Given the description of an element on the screen output the (x, y) to click on. 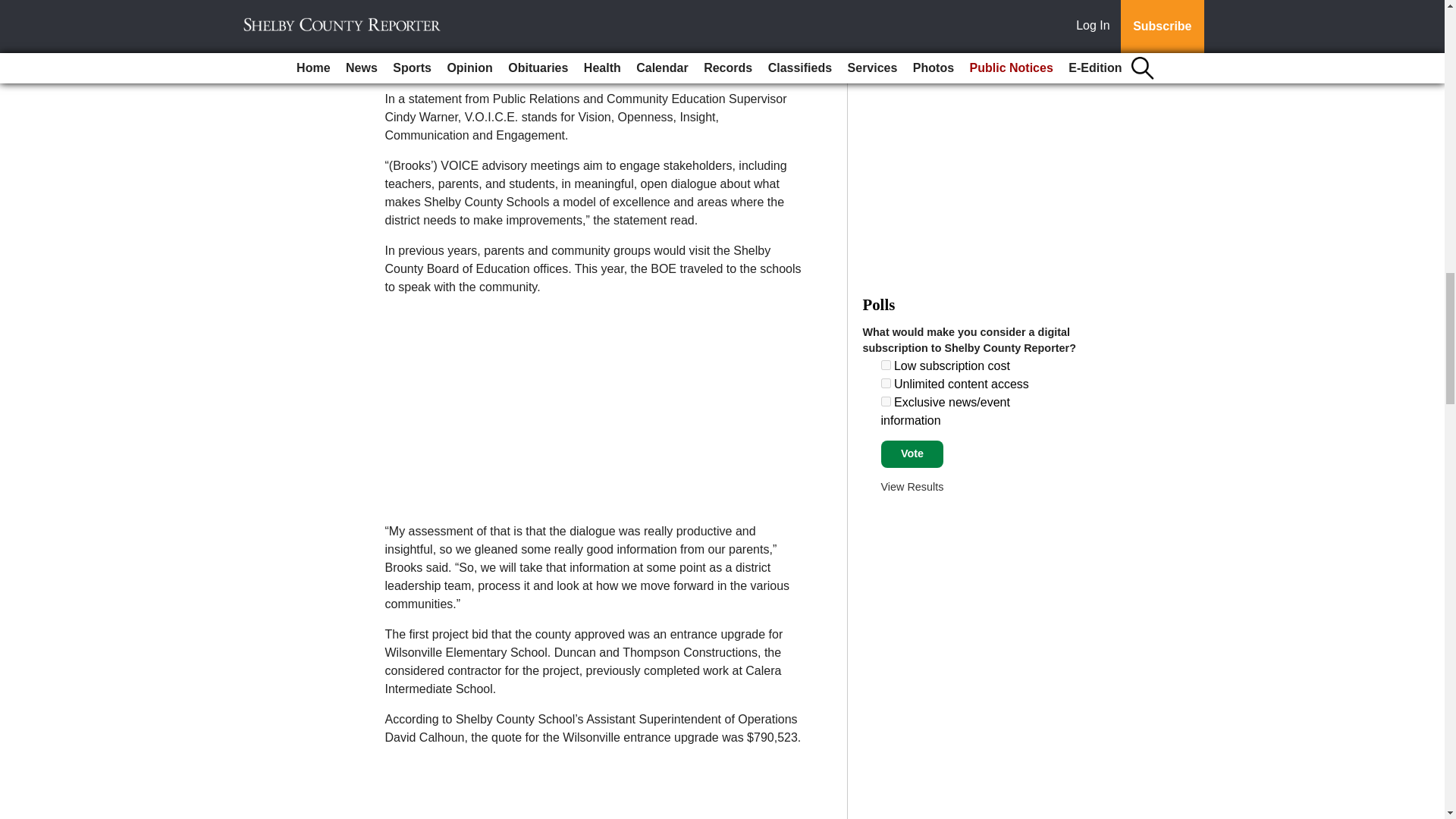
   Vote    (911, 453)
View Results Of This Poll (911, 486)
4636 (885, 365)
Subscribe (434, 49)
4638 (885, 401)
4637 (885, 383)
